Given the description of an element on the screen output the (x, y) to click on. 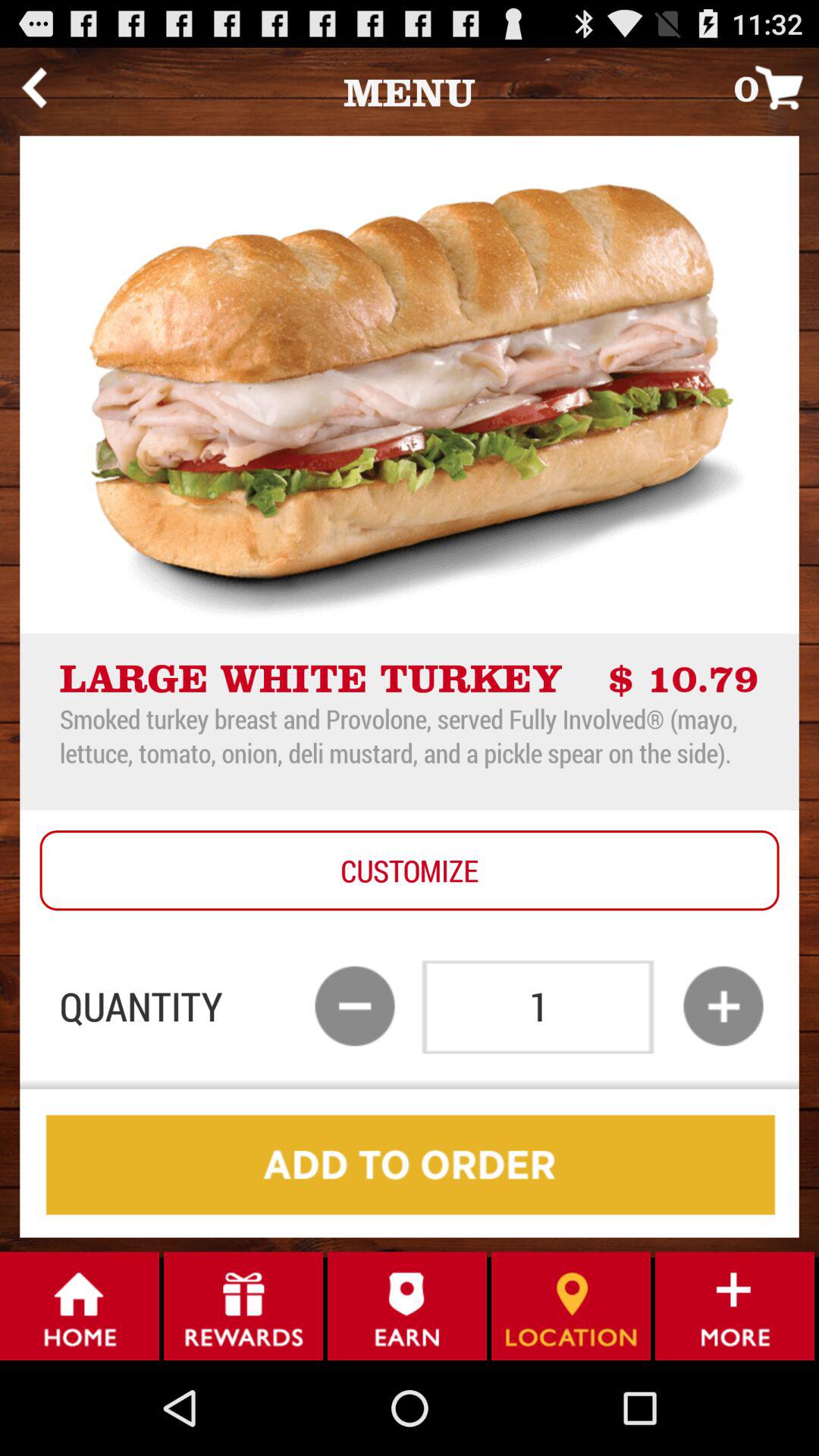
press icon at the top right corner (776, 87)
